Given the description of an element on the screen output the (x, y) to click on. 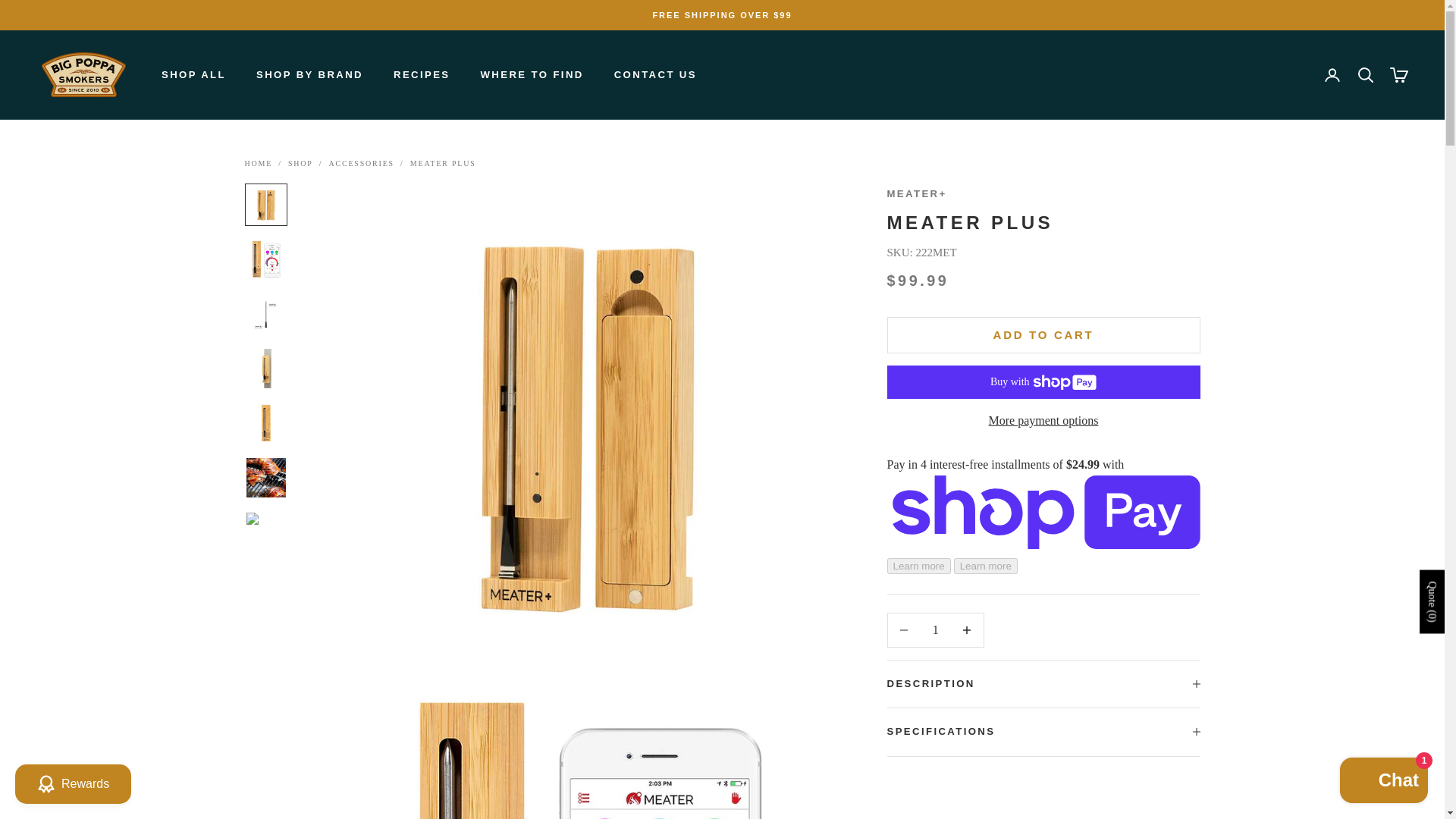
Shopify online store chat (1383, 781)
1 (935, 629)
